Given the description of an element on the screen output the (x, y) to click on. 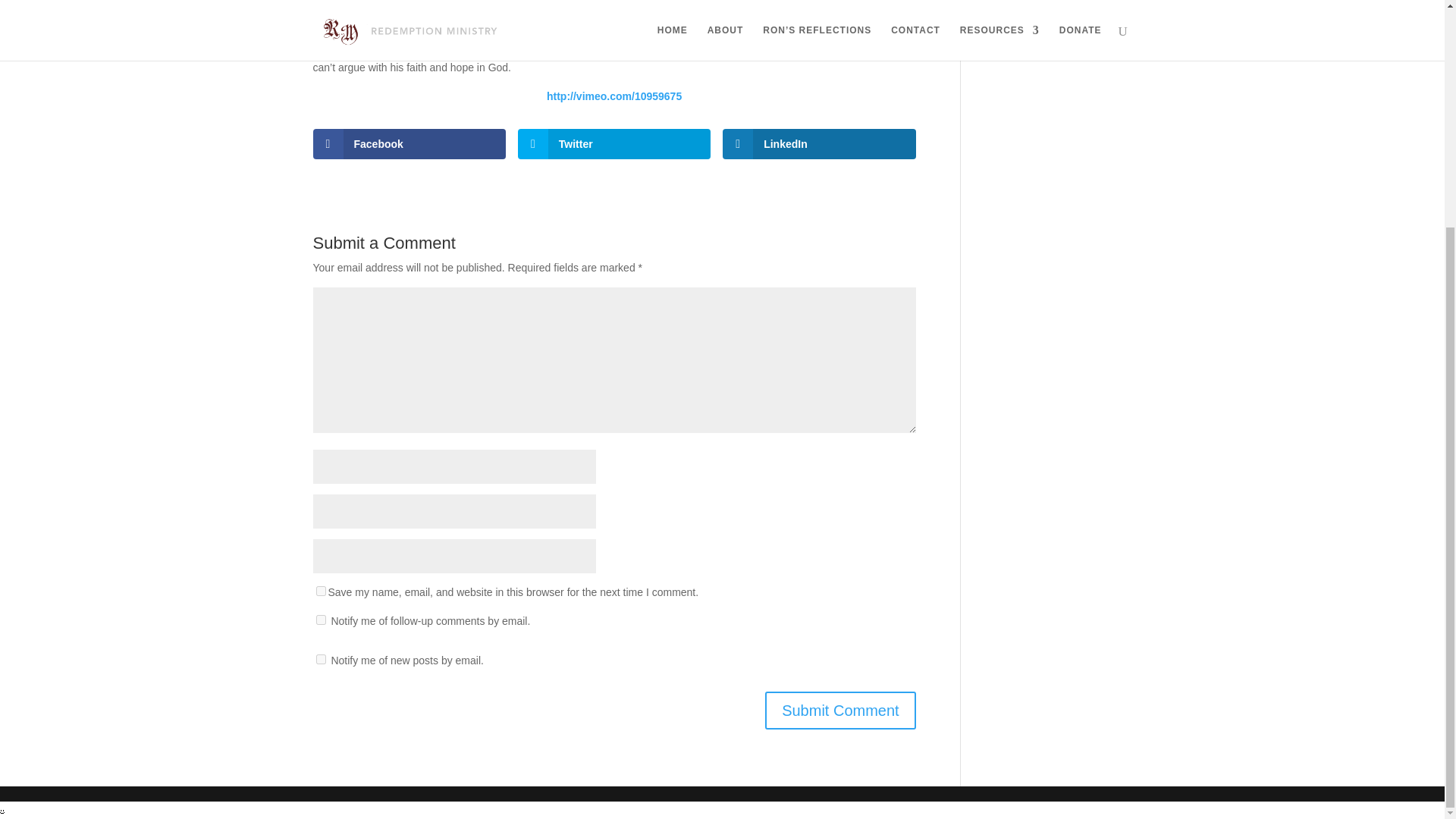
LinkedIn (818, 143)
Submit Comment (840, 710)
yes (319, 591)
matt chandler (836, 19)
Submit Comment (840, 710)
Facebook (409, 143)
subscribe (319, 619)
Twitter (614, 143)
In His Right Mind (1024, 14)
subscribe (319, 659)
